Given the description of an element on the screen output the (x, y) to click on. 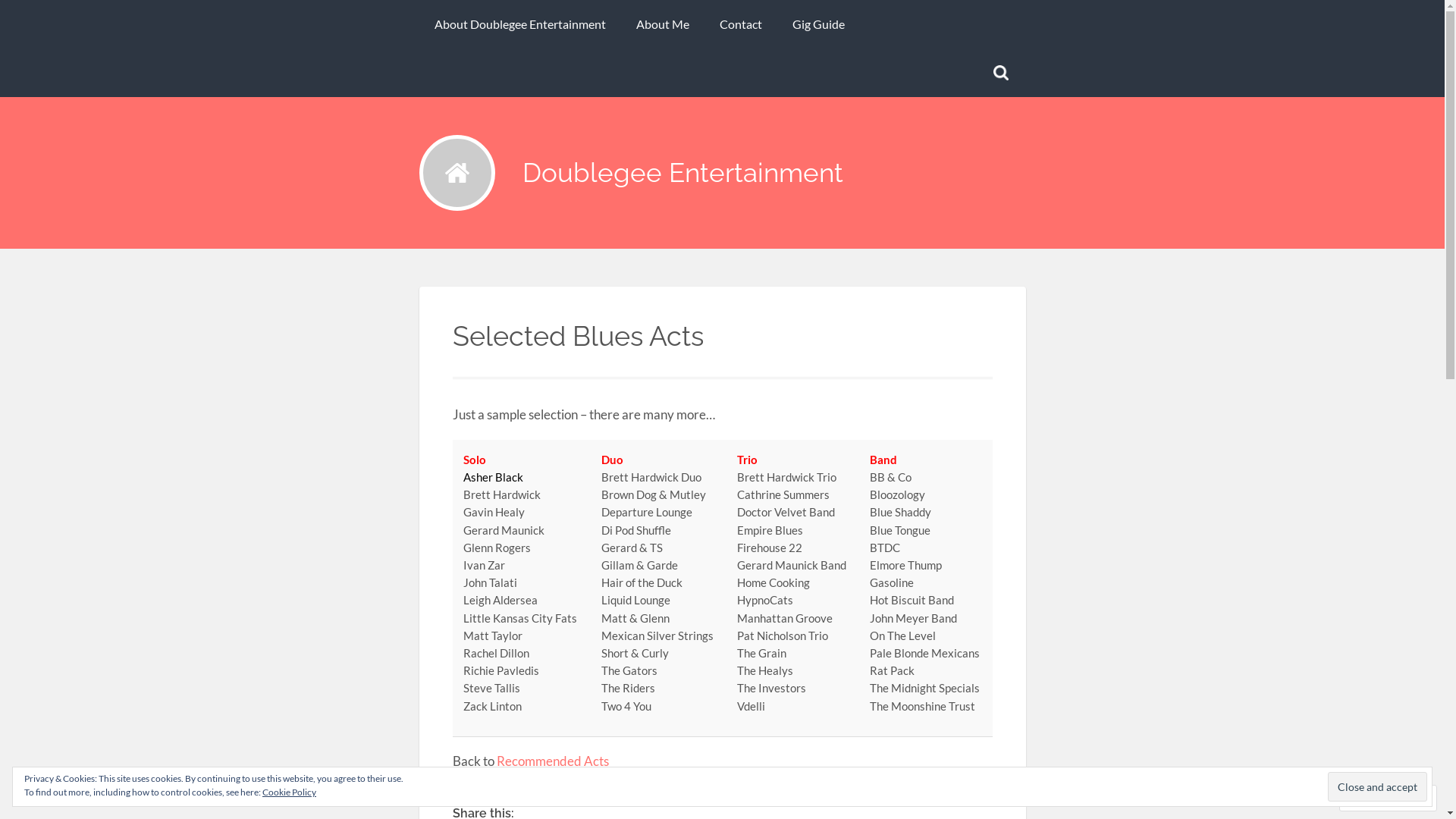
Search Element type: text (28, 14)
Gig Guide Element type: text (817, 24)
About Me Element type: text (661, 24)
Close and accept Element type: text (1377, 786)
Cookie Policy Element type: text (289, 791)
Search Element type: text (29, 14)
Doublegee Entertainment Element type: hover (456, 172)
Contact Element type: text (739, 24)
Follow Element type: text (1373, 797)
Doublegee Entertainment Element type: text (681, 172)
About Doublegee Entertainment Element type: text (519, 24)
Recommended Acts Element type: text (551, 760)
